Given the description of an element on the screen output the (x, y) to click on. 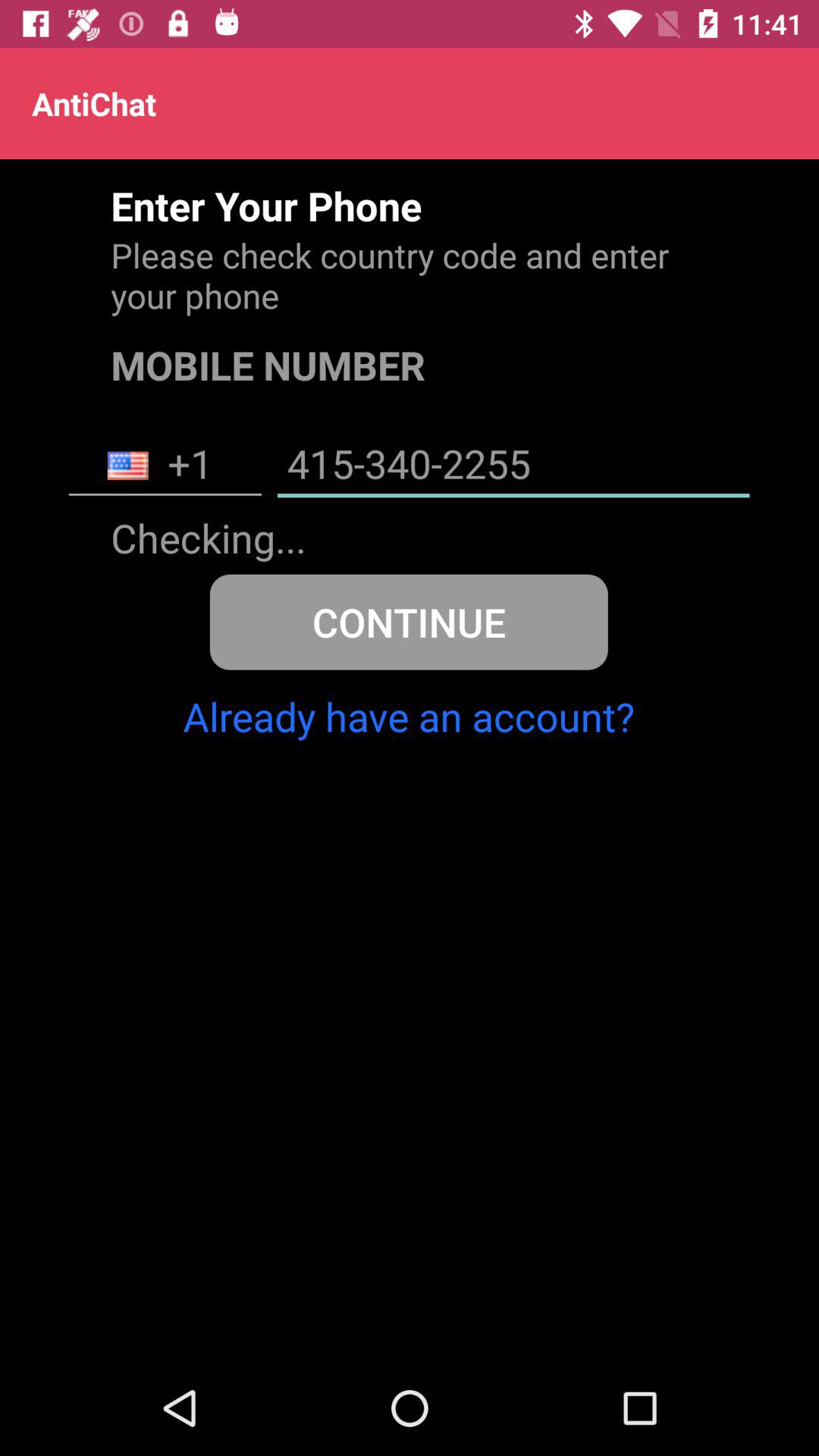
choose icon below mobile number item (513, 466)
